Given the description of an element on the screen output the (x, y) to click on. 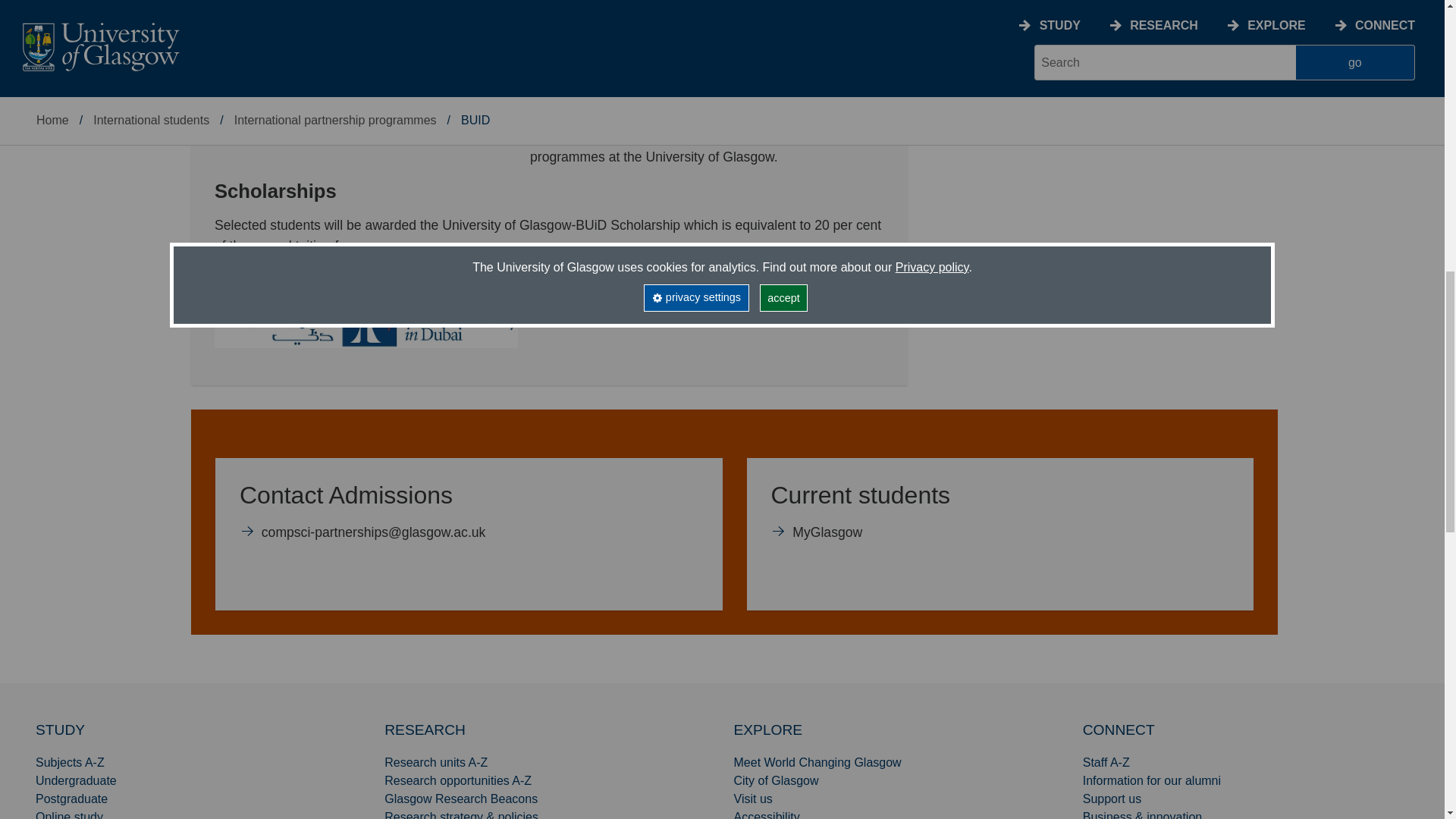
Postgraduate (70, 798)
Undergraduate (75, 780)
BSc Software Engineering (1114, 80)
Subjects A-Z (69, 762)
BSc Computing Science (999, 518)
STUDY (1114, 48)
Online study (59, 729)
